Given the description of an element on the screen output the (x, y) to click on. 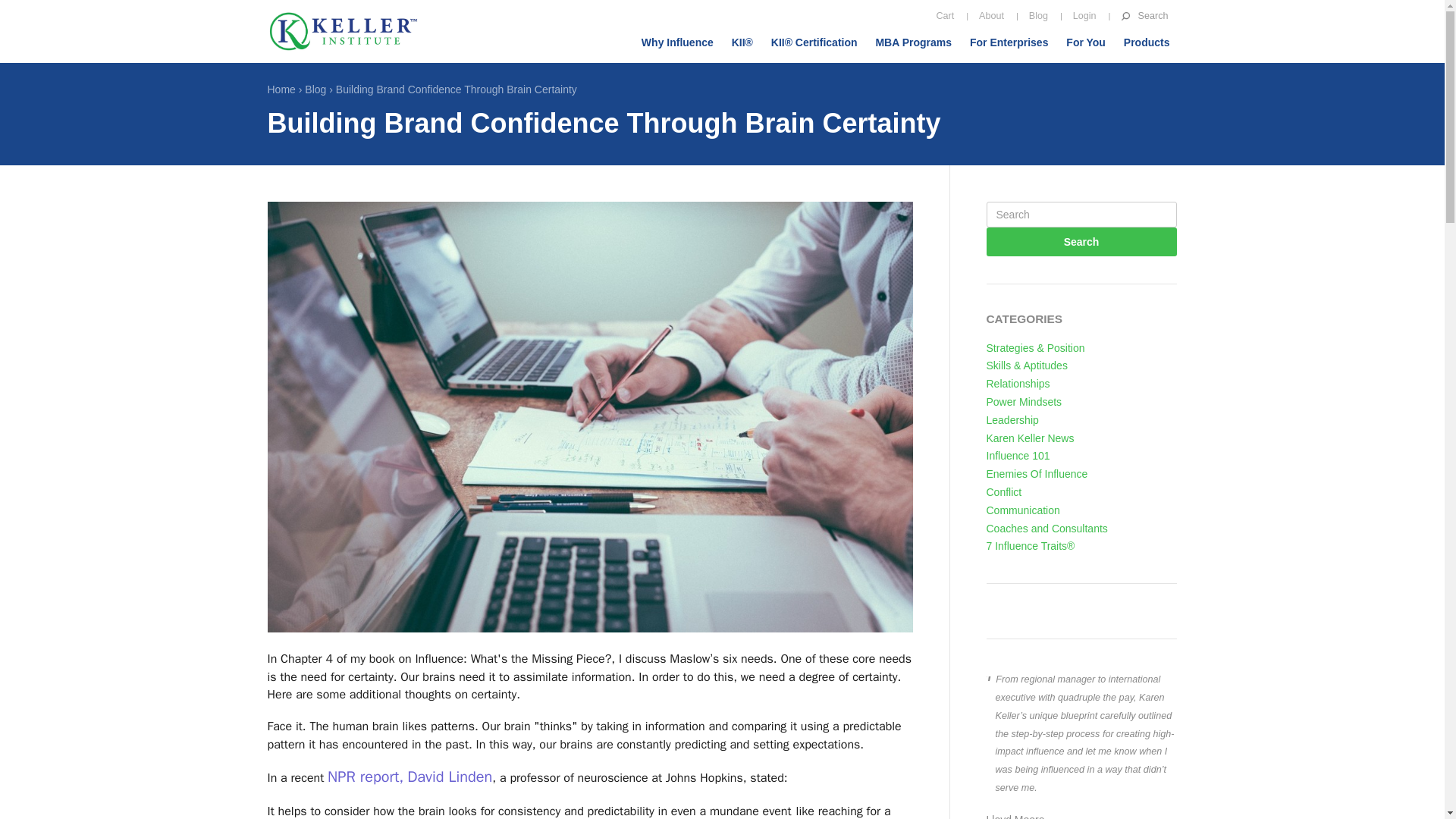
Why Influence (676, 42)
For Enterprises (1008, 42)
Home (342, 31)
MBA Programs (913, 42)
Products (1146, 42)
Search (1080, 241)
For You (1085, 42)
